Given the description of an element on the screen output the (x, y) to click on. 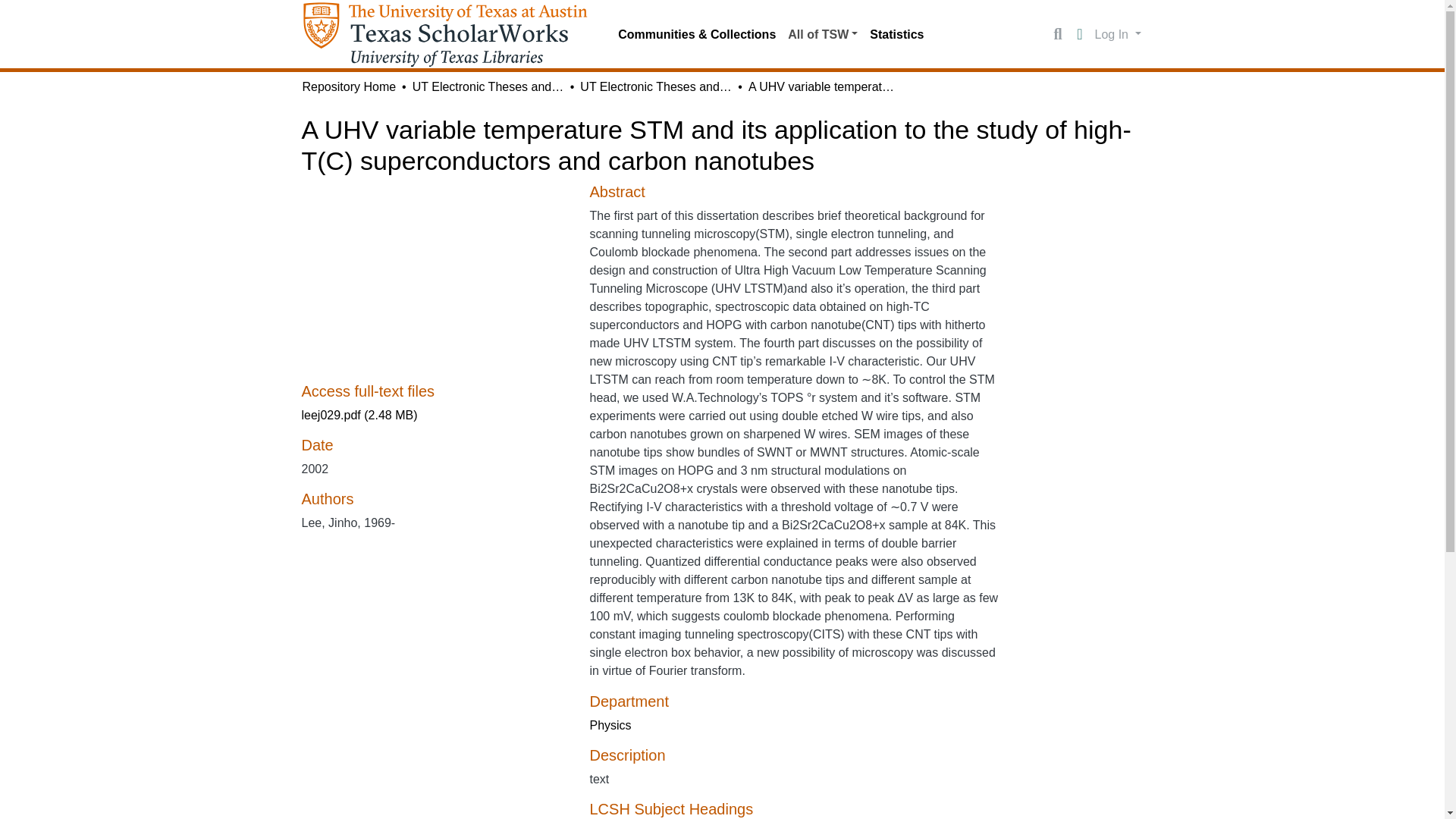
UT Electronic Theses and Dissertations (488, 86)
Log In (1117, 33)
UT Electronic Theses and Dissertations (655, 86)
Search (1057, 34)
Physics (609, 725)
Statistics (896, 34)
Statistics (896, 34)
Repository Home (348, 86)
Language switch (1079, 34)
All of TSW (822, 34)
